Given the description of an element on the screen output the (x, y) to click on. 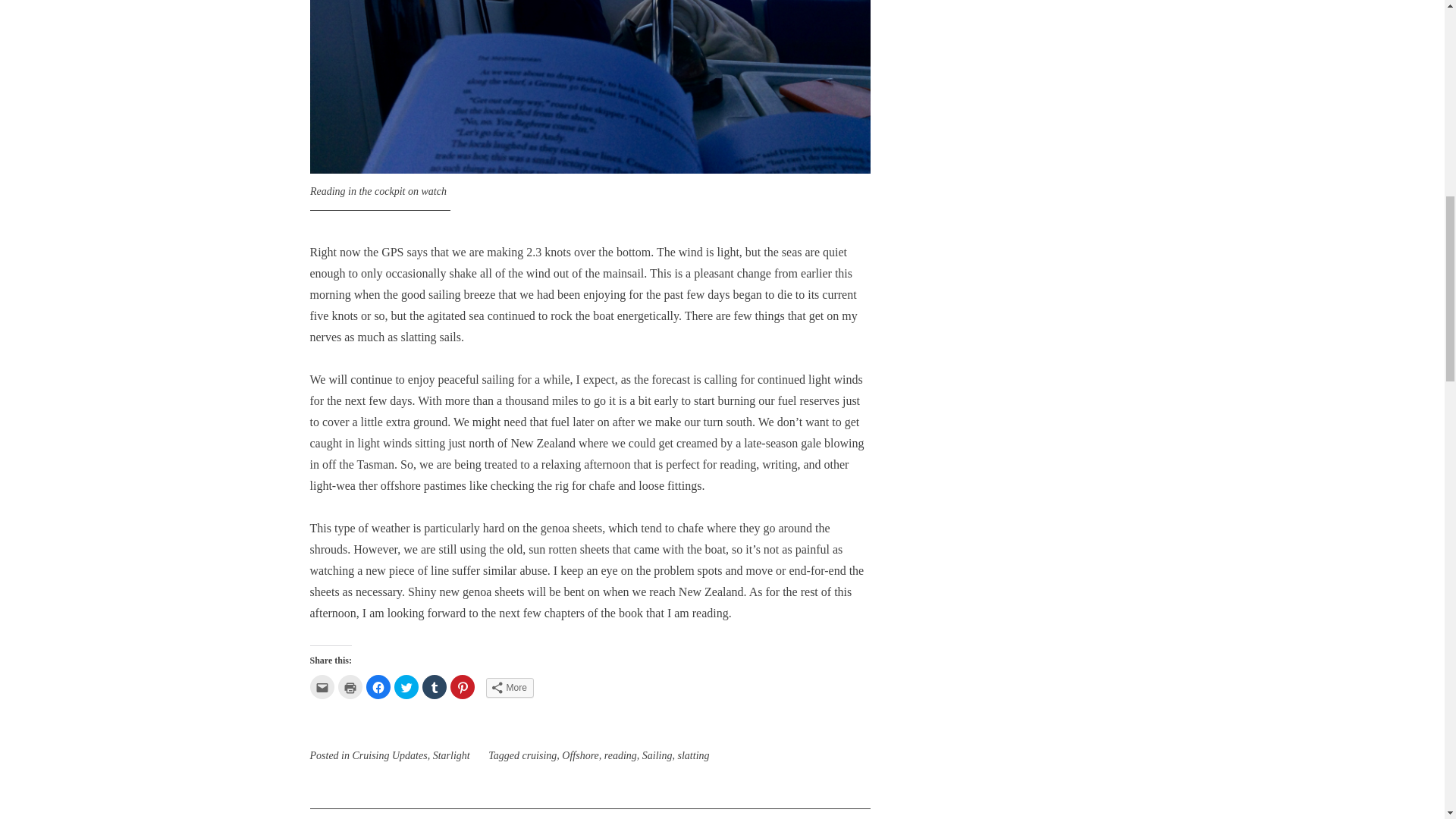
cruising (538, 755)
slatting (694, 755)
Click to print (349, 686)
reading (620, 755)
Cruising Updates (389, 755)
Click to share on Tumblr (433, 686)
Starlight (451, 755)
More (508, 687)
Click to share on Pinterest (461, 686)
Click to email this to a friend (320, 686)
Sailing (657, 755)
Click to share on Twitter (406, 686)
Offshore (580, 755)
Click to share on Facebook (377, 686)
